Given the description of an element on the screen output the (x, y) to click on. 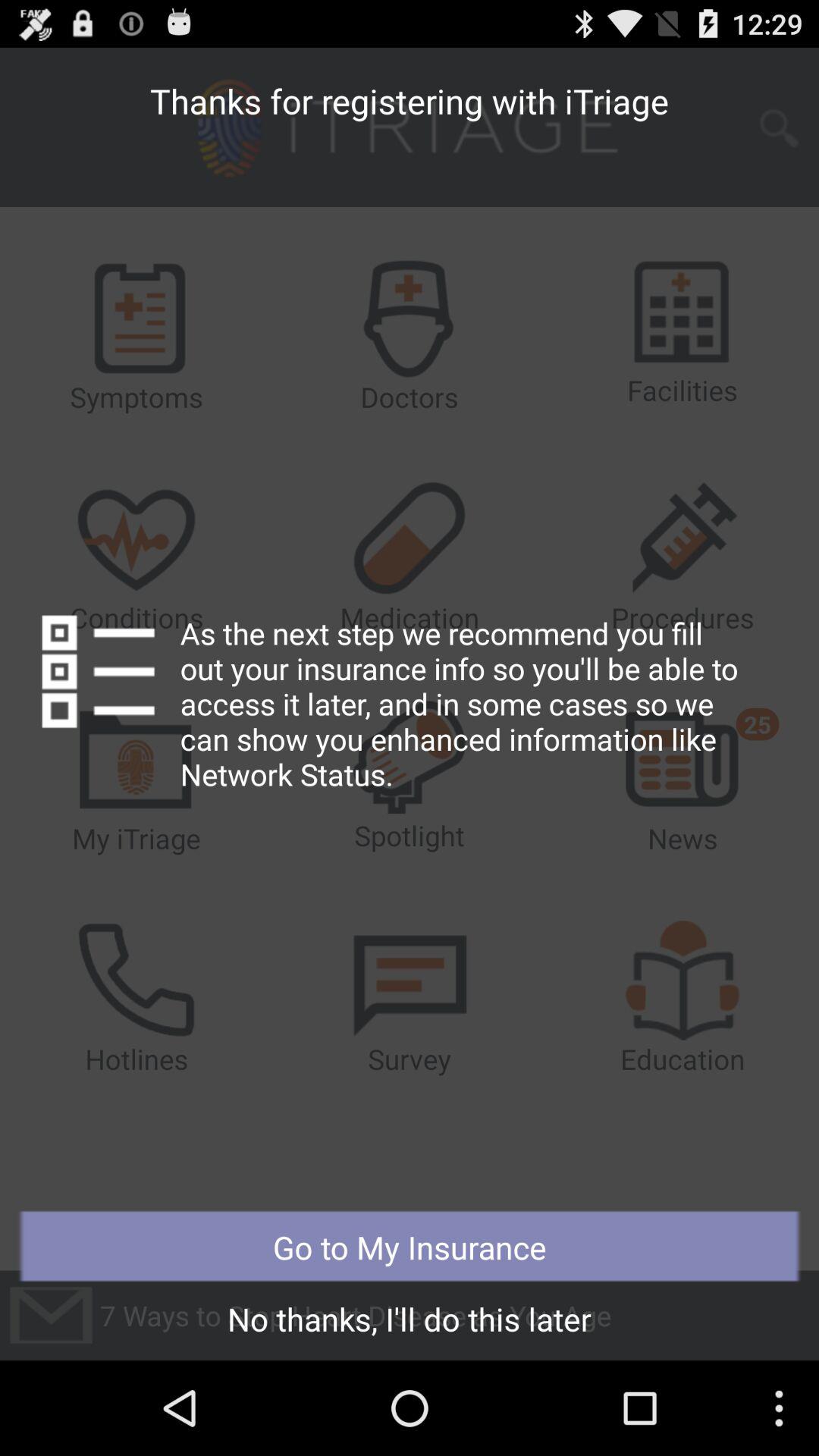
turn off the button above no thanks i item (409, 1247)
